Given the description of an element on the screen output the (x, y) to click on. 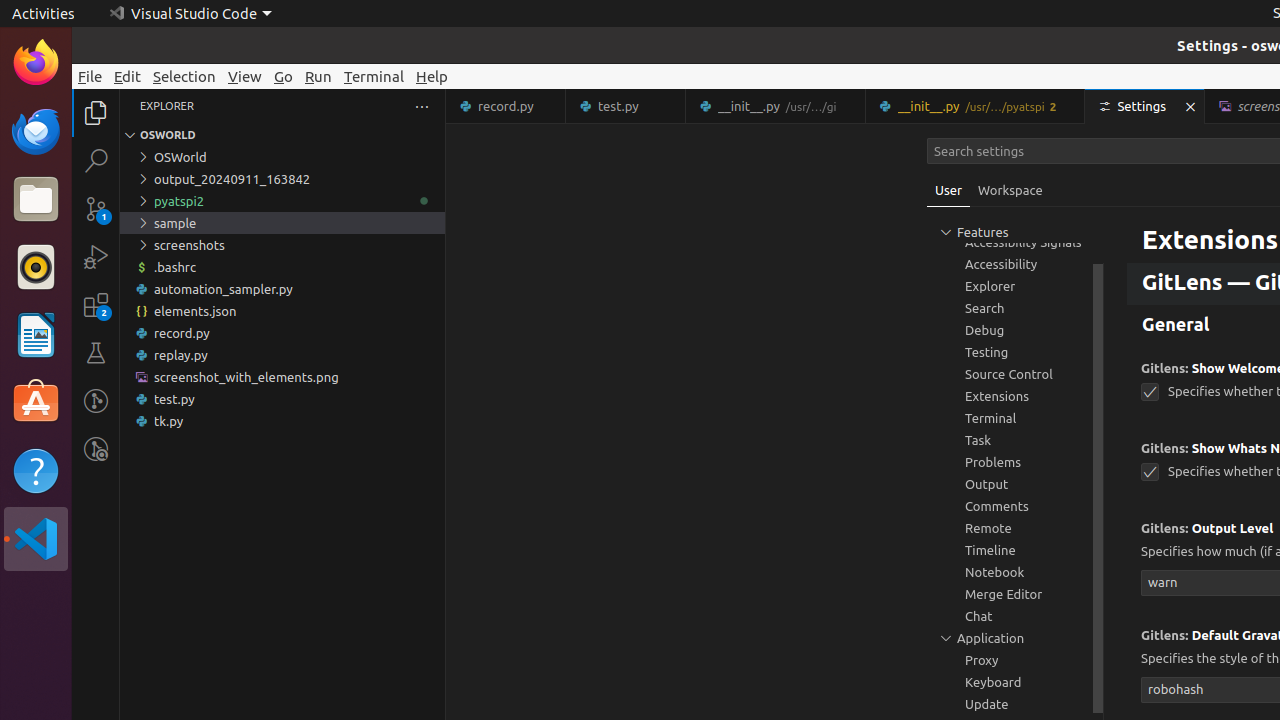
Output, group Element type: tree-item (1015, 484)
Accessibility Signals, group Element type: tree-item (1015, 241)
Problems, group Element type: tree-item (1015, 462)
sample Element type: tree-item (282, 223)
Comments, group Element type: tree-item (1015, 506)
